Given the description of an element on the screen output the (x, y) to click on. 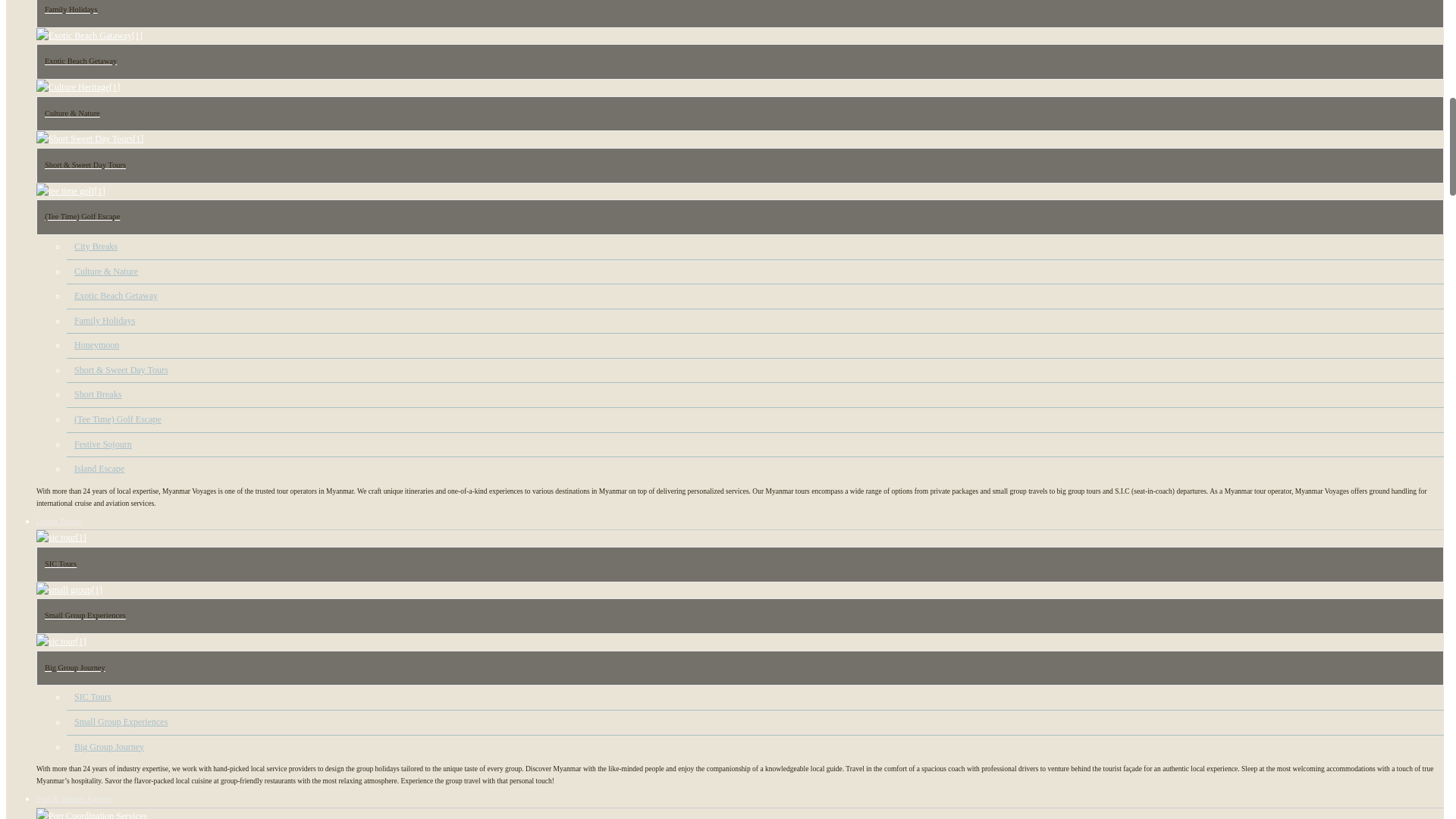
Short Breaks (97, 394)
Family Holidays (104, 320)
Exotic Beach Getaway (115, 295)
City Breaks (95, 245)
Honeymoon (96, 344)
